Given the description of an element on the screen output the (x, y) to click on. 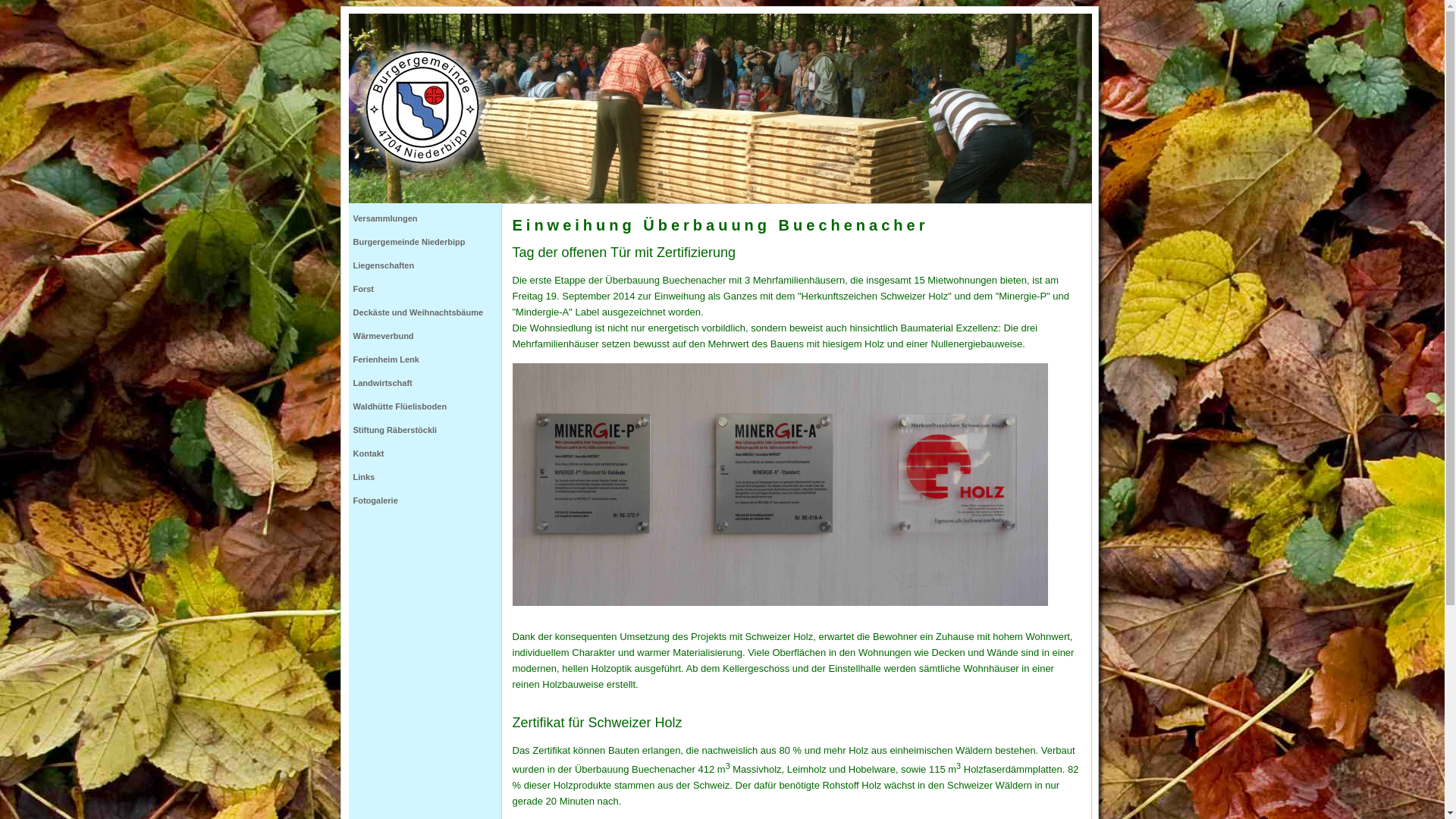
Versammlungen Element type: text (426, 218)
Ferienheim Lenk Element type: text (426, 359)
Landwirtschaft Element type: text (426, 383)
Links Element type: text (426, 477)
Forst Element type: text (426, 289)
Liegenschaften Element type: text (426, 265)
Fotogalerie Element type: text (426, 500)
Burgergemeinde Niederbipp Element type: text (426, 242)
Kontakt Element type: text (426, 453)
